Given the description of an element on the screen output the (x, y) to click on. 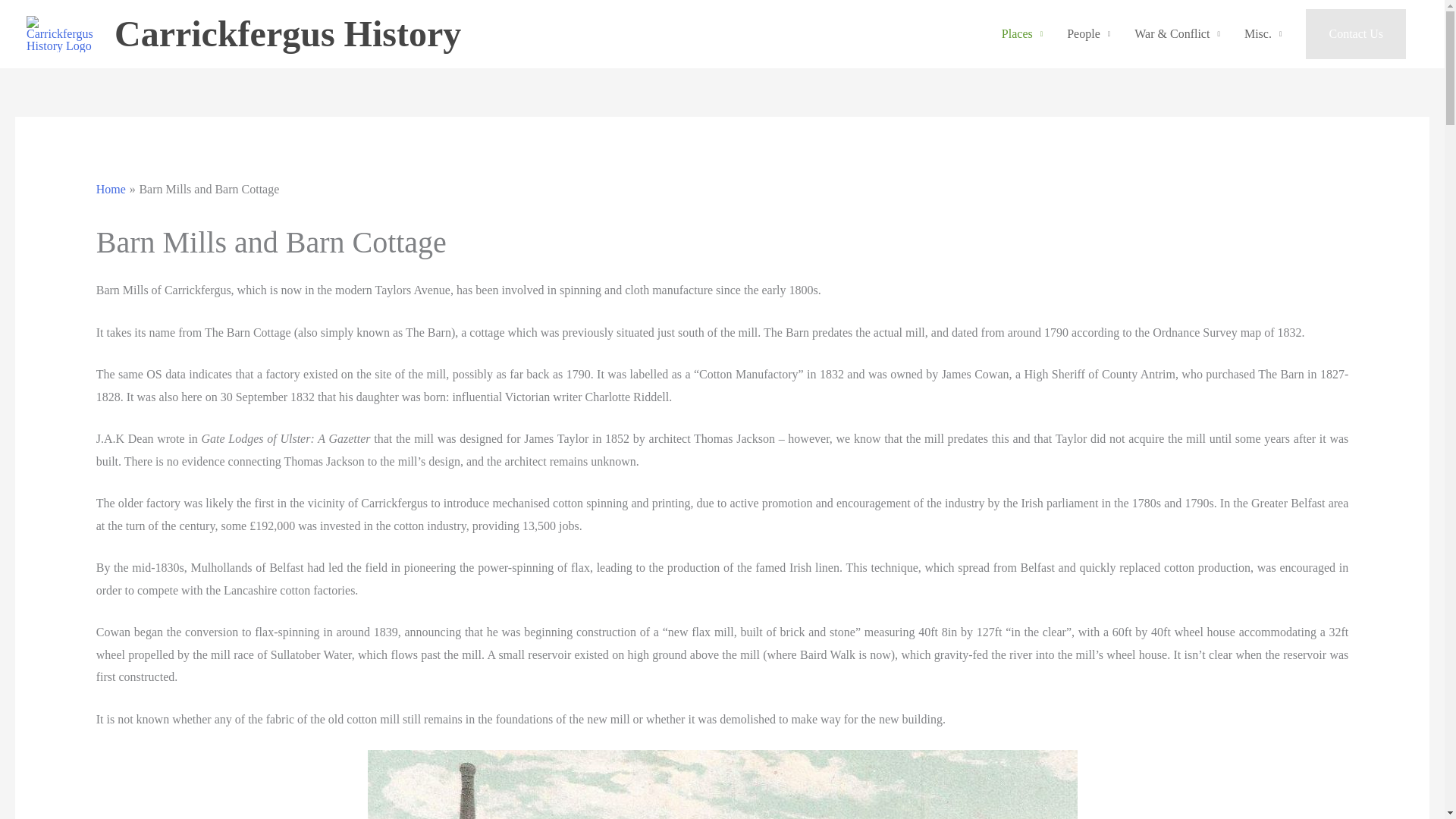
Home (110, 188)
Carrickfergus History (288, 33)
Places (1022, 33)
People (1088, 33)
Contact Us (1356, 33)
Misc. (1262, 33)
